Given the description of an element on the screen output the (x, y) to click on. 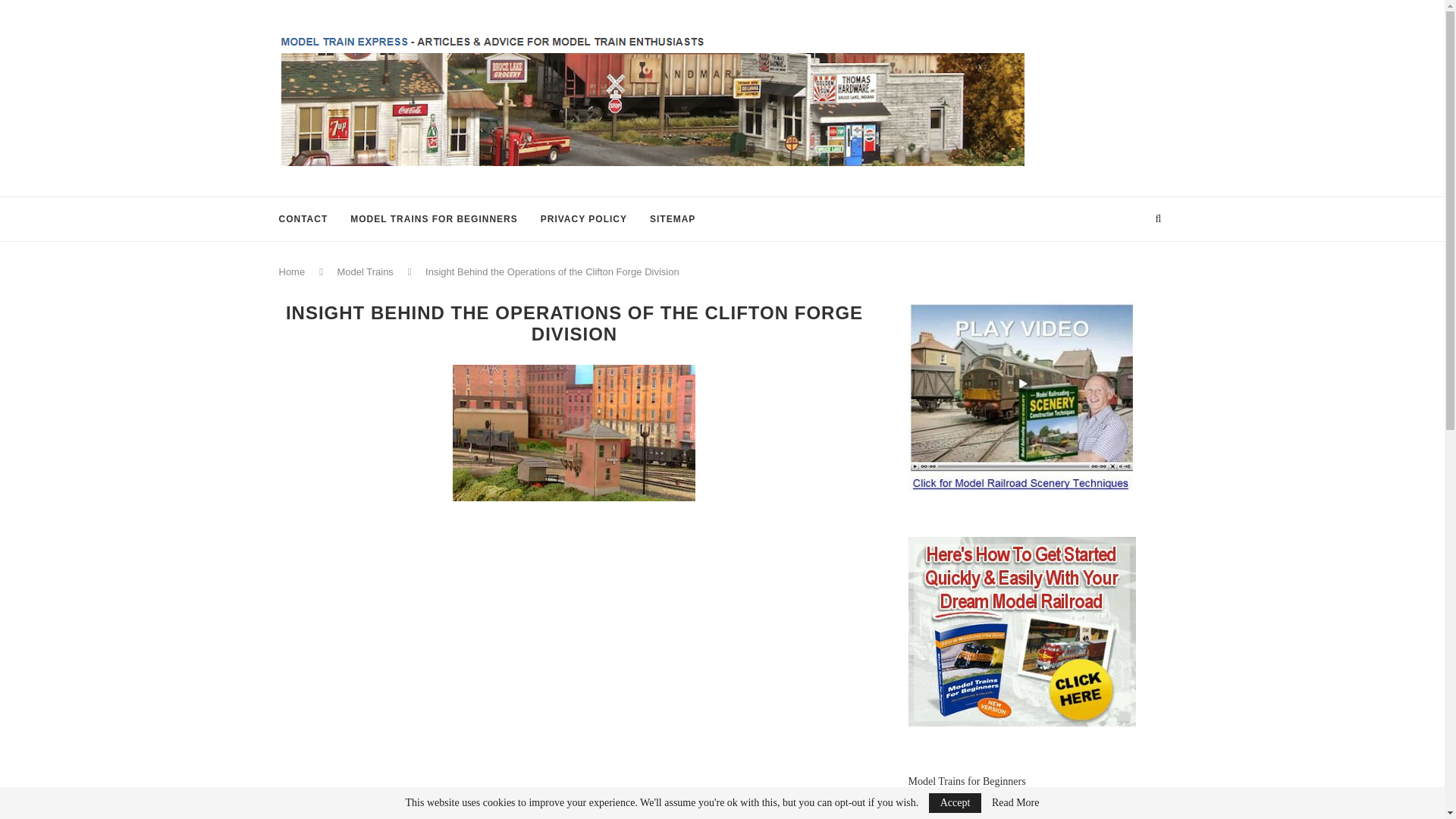
SITEMAP (672, 218)
Basic model railroader tool set (973, 816)
Model Trains (364, 271)
PRIVACY POLICY (583, 218)
CONTACT (304, 218)
Home (292, 271)
MODEL TRAINS FOR BEGINNERS (433, 218)
Model Trains for Beginners (967, 781)
